Given the description of an element on the screen output the (x, y) to click on. 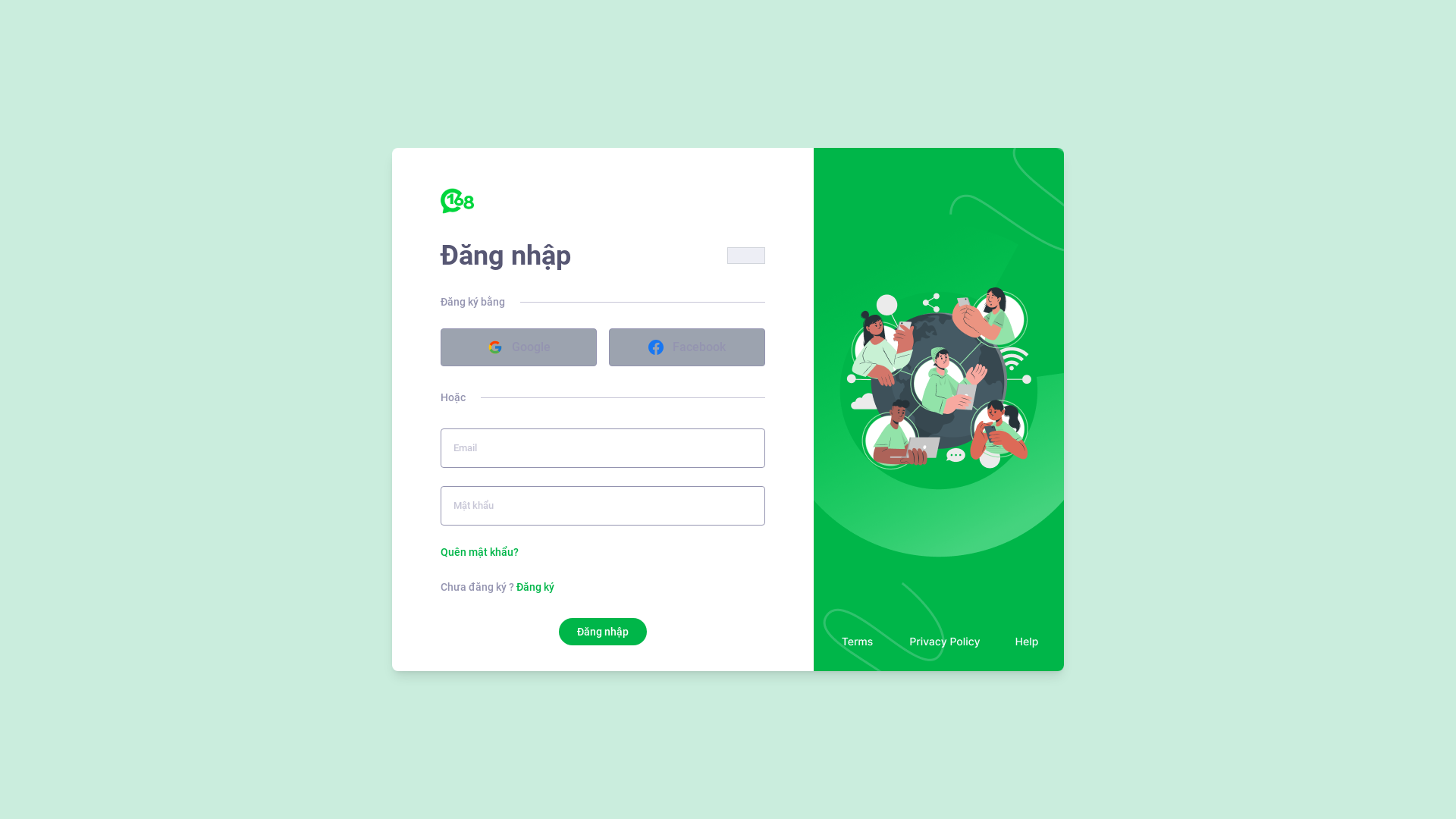
Facebook Element type: text (686, 347)
Google Element type: text (518, 347)
